Given the description of an element on the screen output the (x, y) to click on. 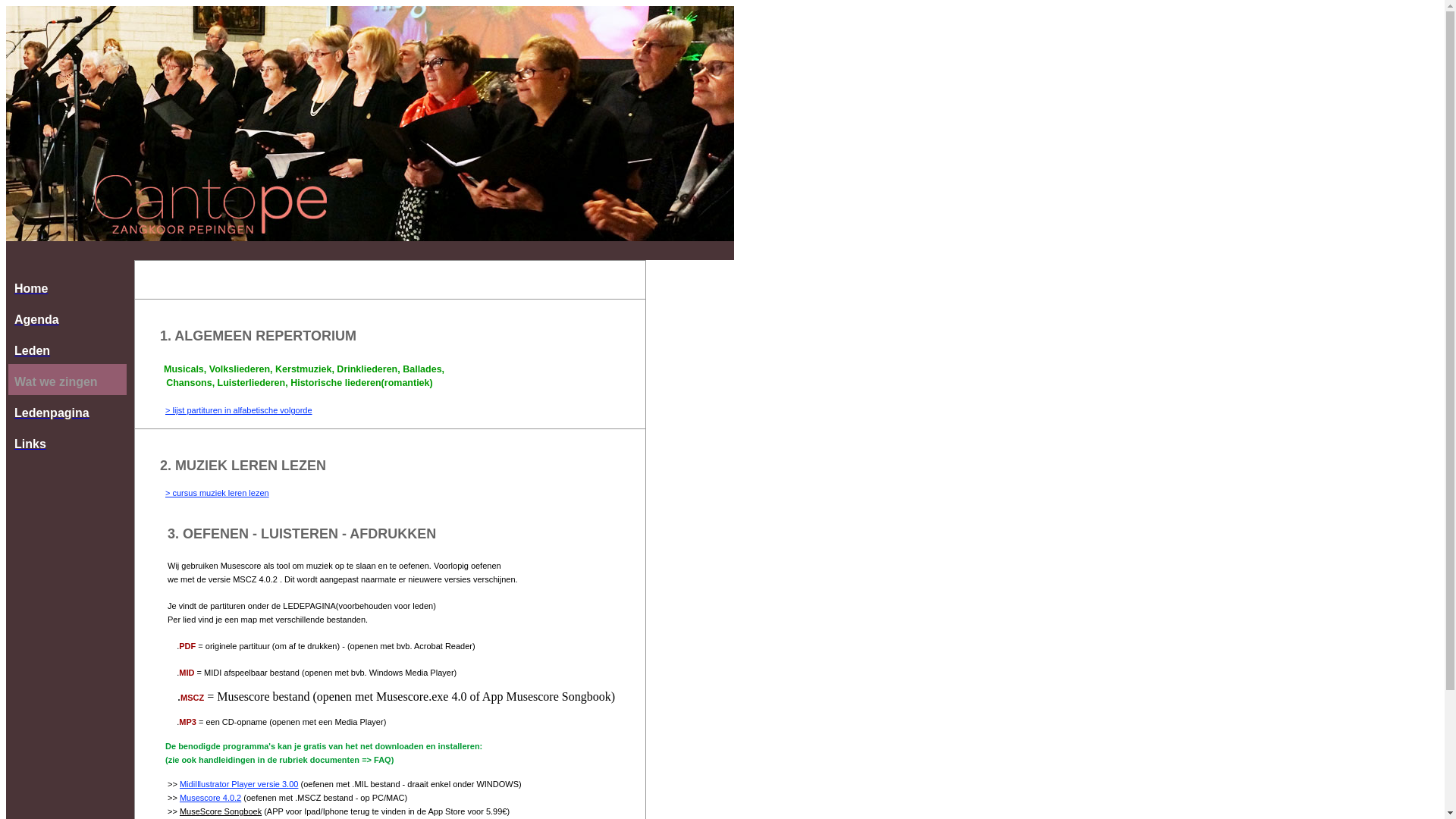
Musescore 4.0.2 Element type: text (210, 797)
Leden Element type: text (67, 348)
> lijst partituren in alfabetische volgorde Element type: text (238, 409)
Home Element type: text (67, 285)
Ledenpagina Element type: text (67, 410)
Links Element type: text (67, 441)
Agenda Element type: text (67, 316)
> cursus muziek leren lezen Element type: text (217, 492)
MidiIllustrator Player versie 3.00 Element type: text (238, 783)
